Given the description of an element on the screen output the (x, y) to click on. 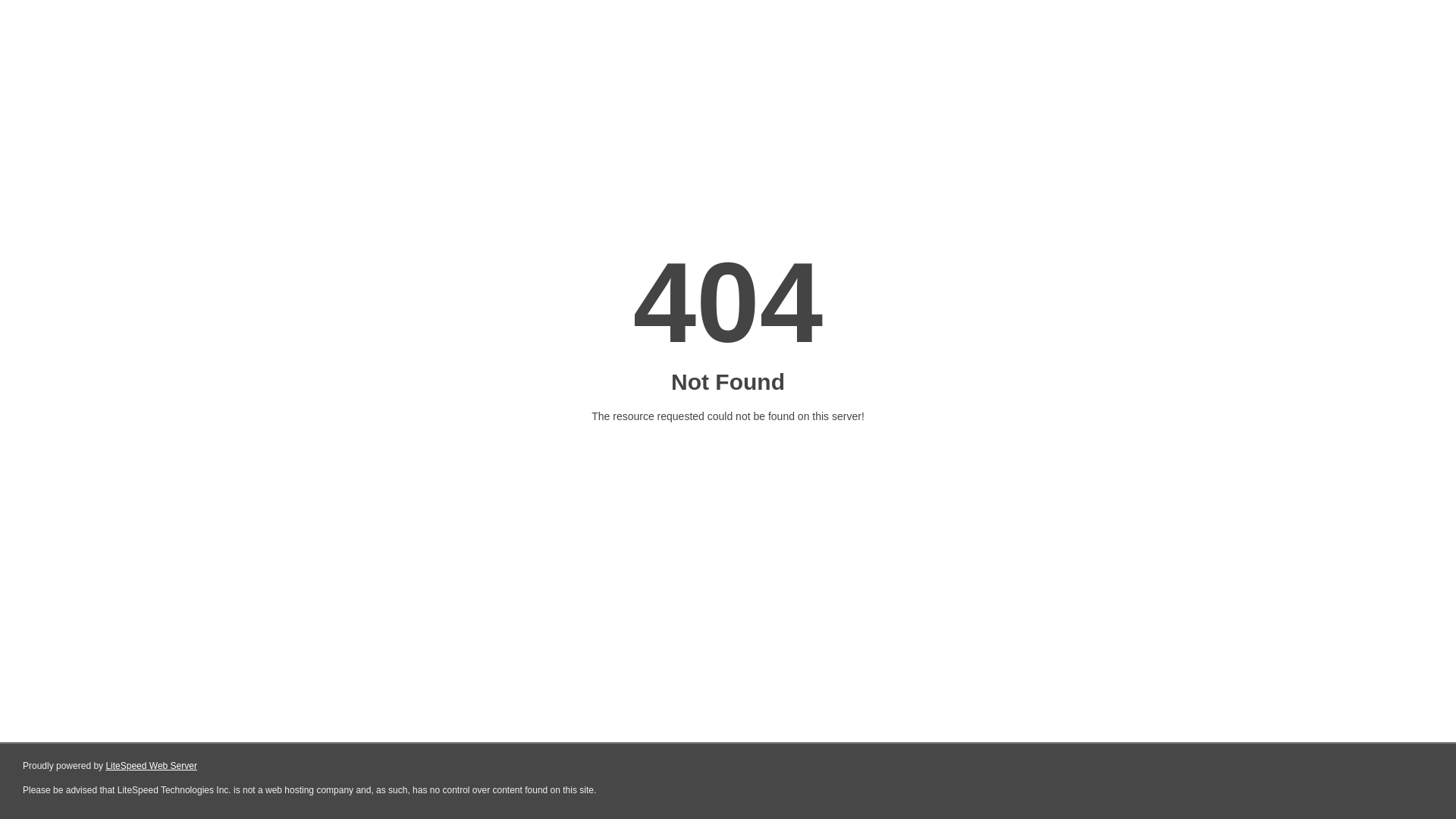
LiteSpeed Web Server Element type: text (151, 765)
